Given the description of an element on the screen output the (x, y) to click on. 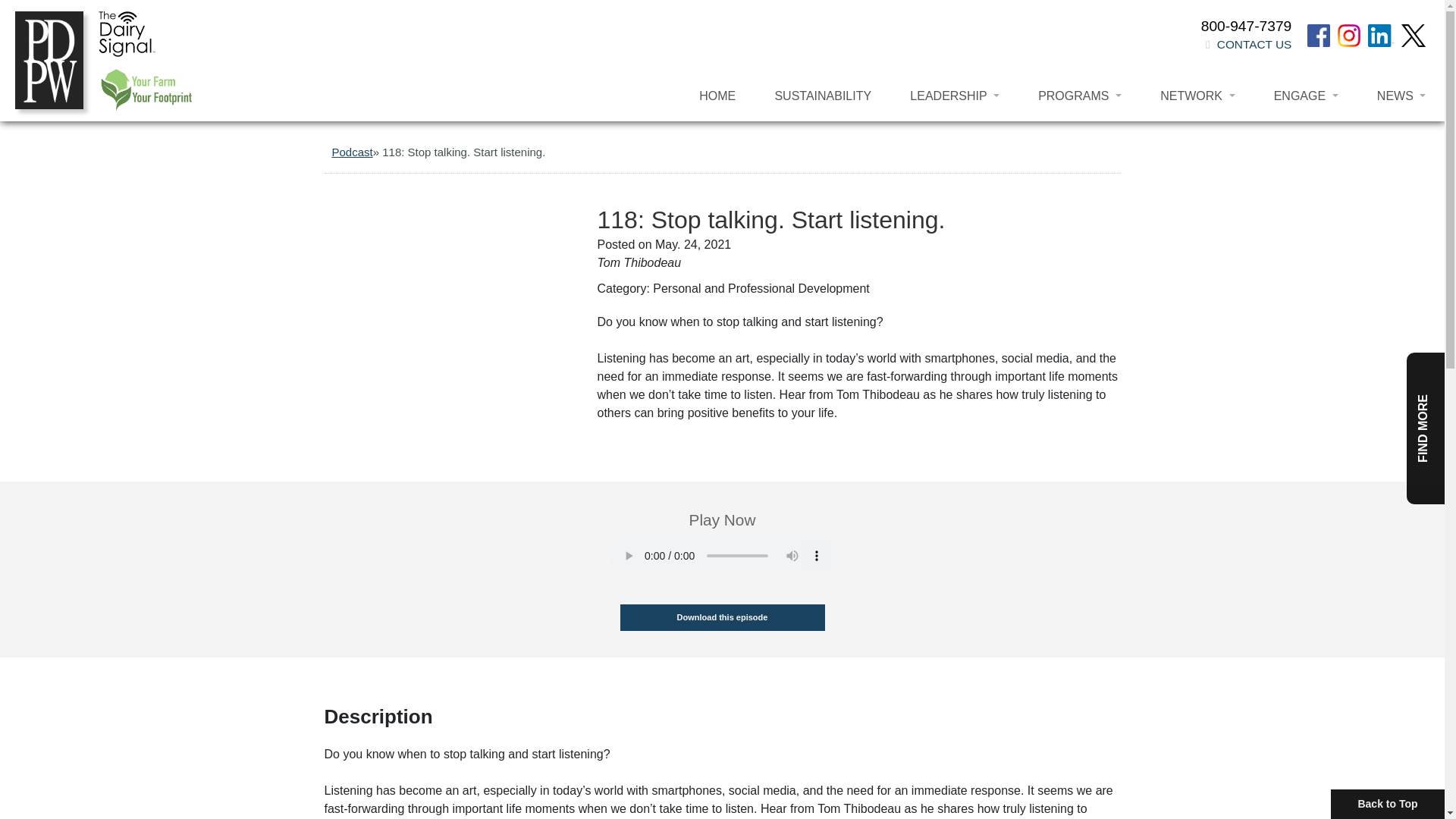
NETWORK (1197, 94)
News (1401, 94)
CONTACT US (1254, 43)
Network (1197, 94)
ENGAGE (1306, 94)
Back to Top (1387, 803)
Download this episode (722, 617)
HOME (716, 94)
Programs (1079, 94)
Engage (1306, 94)
